Given the description of an element on the screen output the (x, y) to click on. 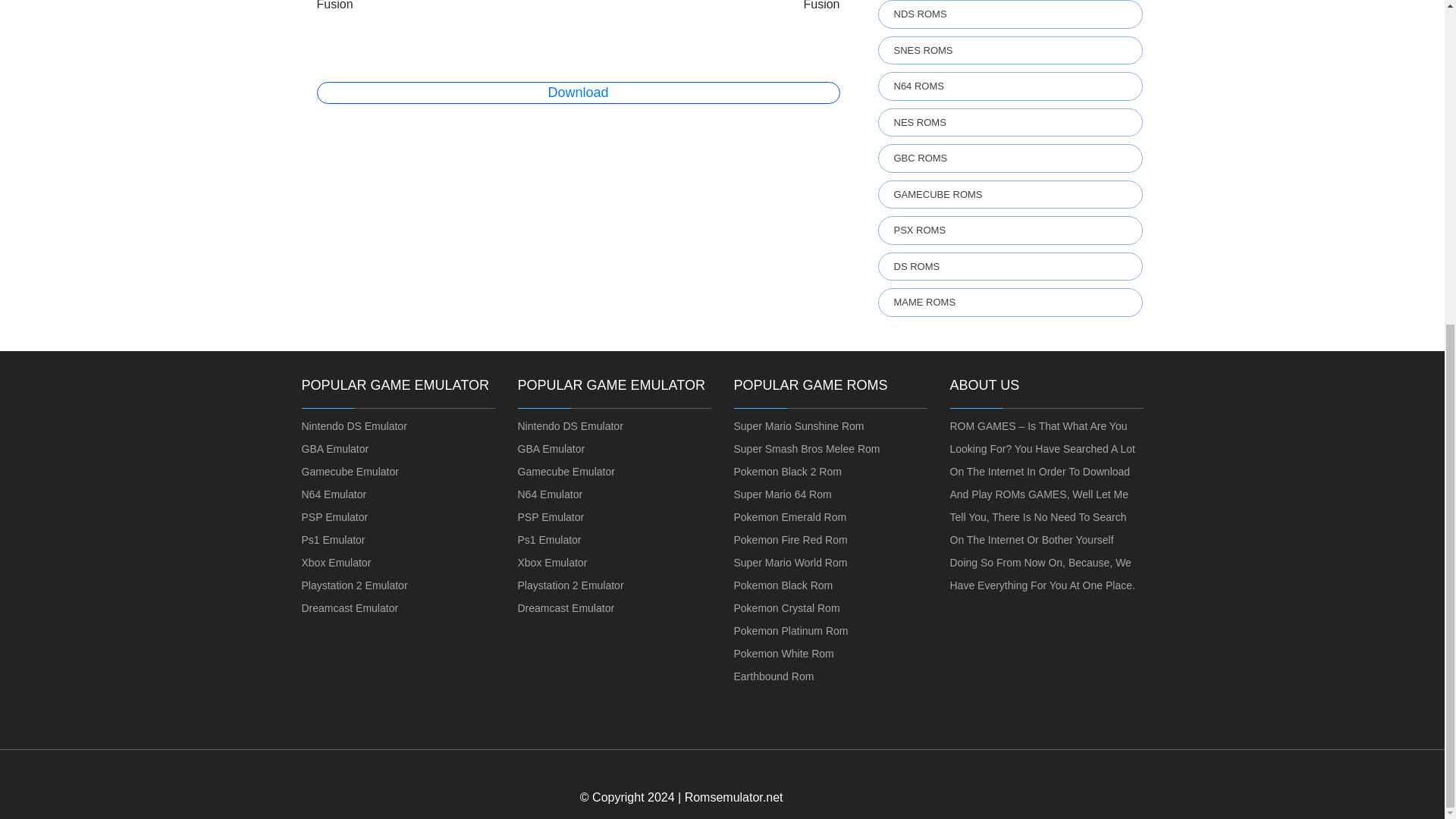
Download (578, 92)
Fusion (335, 5)
Fusion (821, 5)
